Given the description of an element on the screen output the (x, y) to click on. 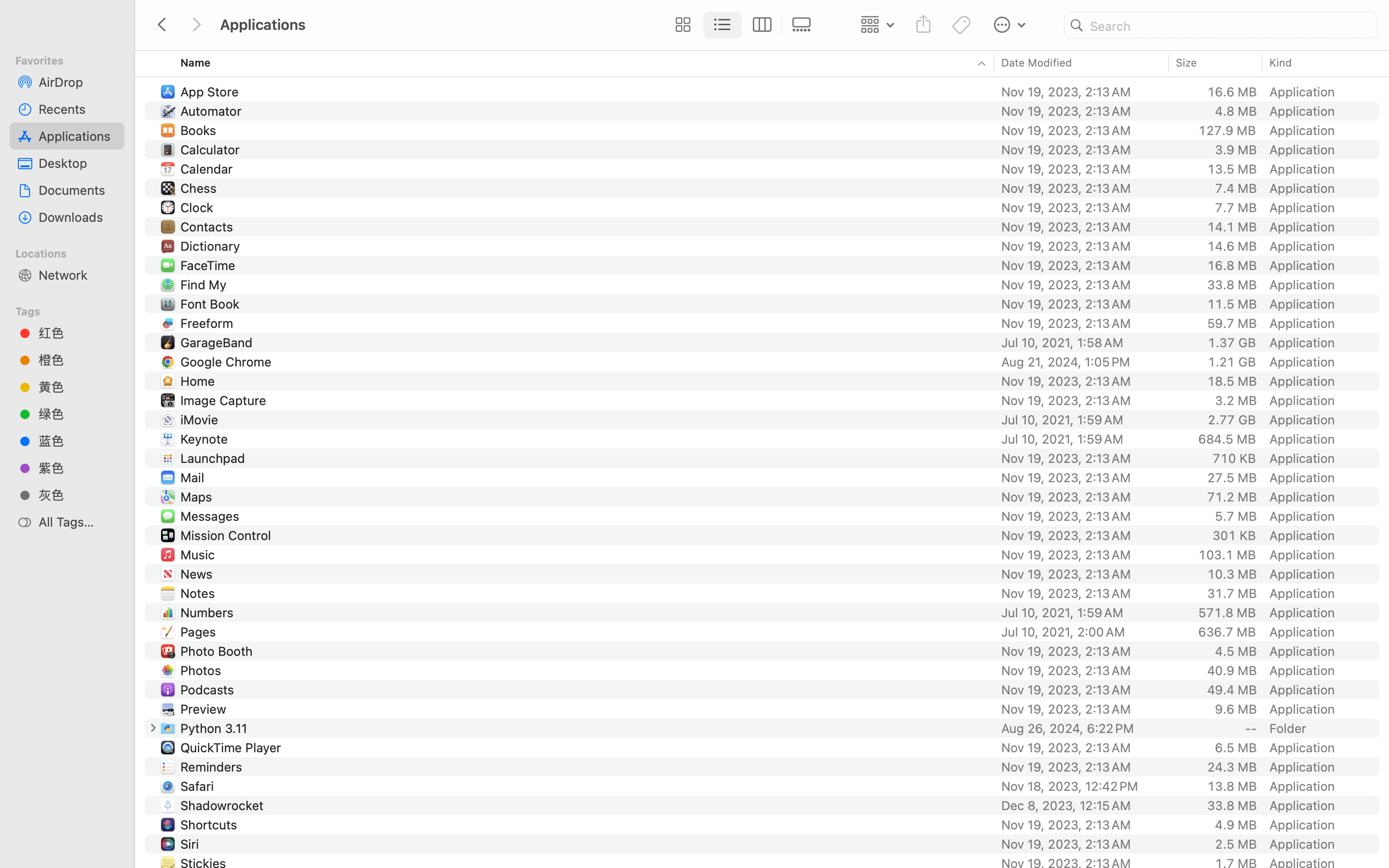
Documents Element type: AXStaticText (77, 189)
3.2 MB Element type: AXStaticText (1235, 399)
Name Element type: AXStaticText (195, 62)
QuickTime Player Element type: AXTextField (232, 747)
9.6 MB Element type: AXStaticText (1235, 708)
